Given the description of an element on the screen output the (x, y) to click on. 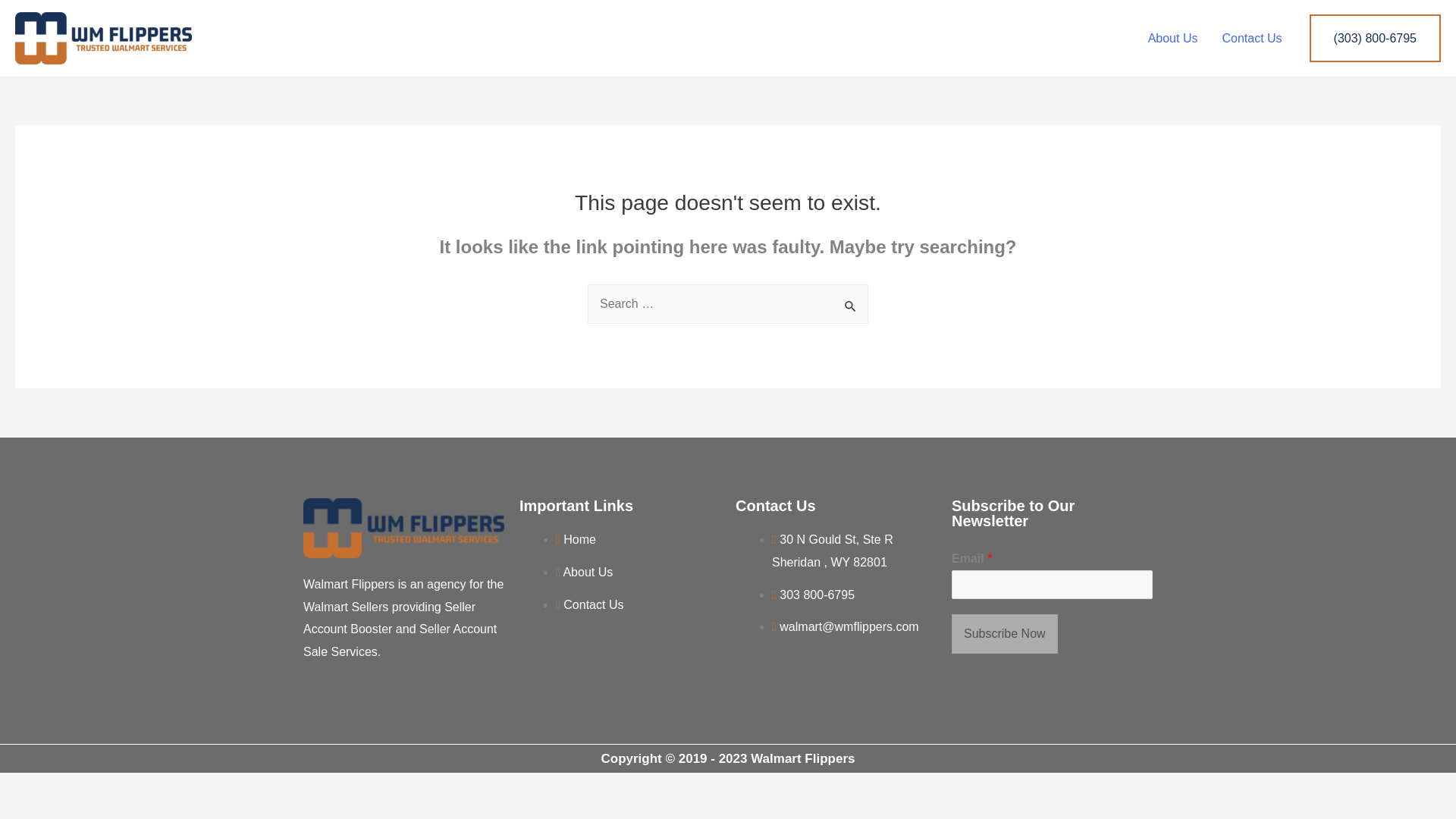
About Us (584, 571)
30 N Gould St, Ste R Sheridan , WY 82801 (832, 550)
Subscribe Now (1005, 633)
Contact Us (589, 604)
Contact Us (1251, 37)
Home (575, 539)
303 800-6795 (812, 594)
About Us (1172, 37)
